Given the description of an element on the screen output the (x, y) to click on. 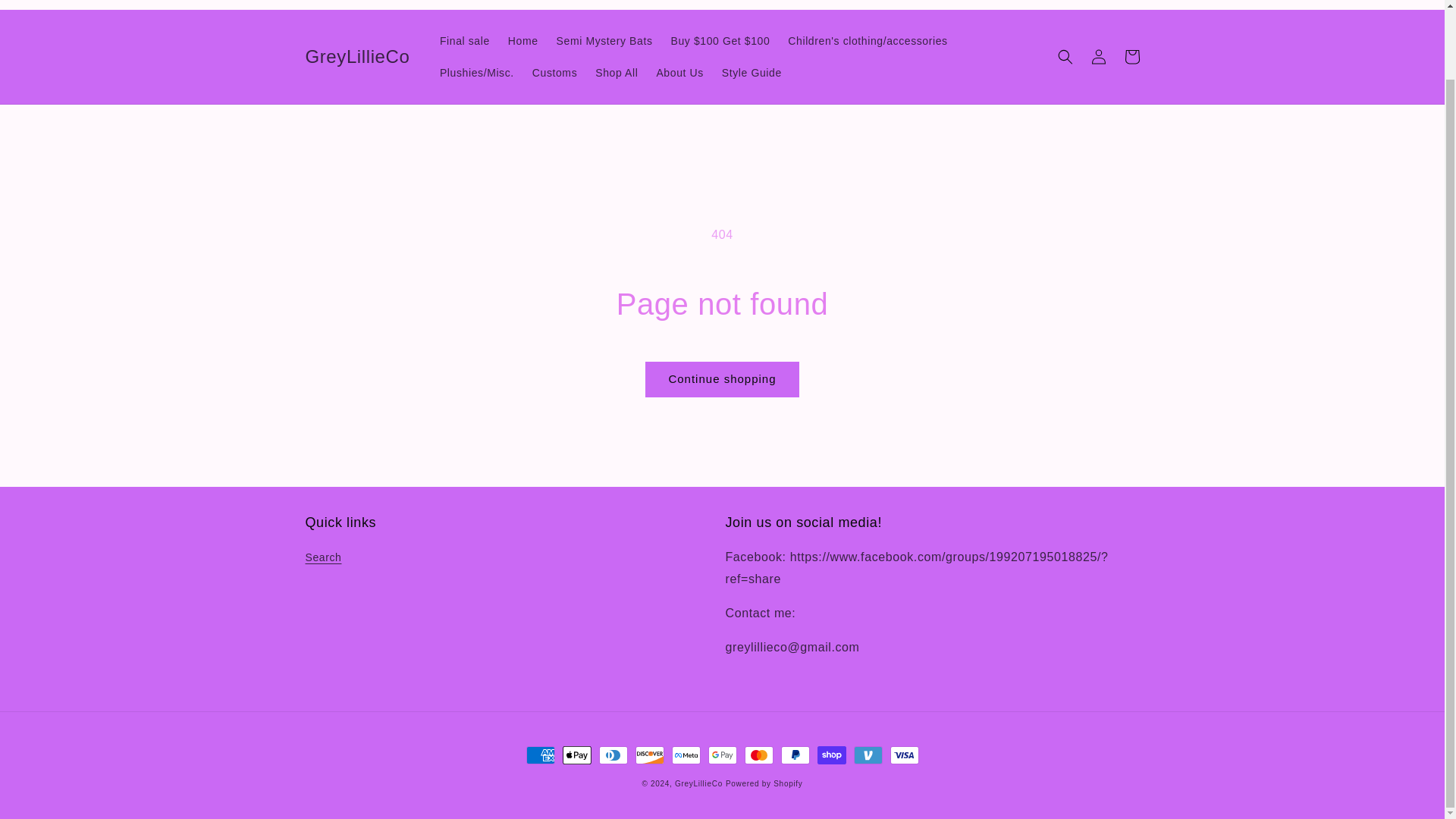
Style Guide (751, 72)
Final sale (464, 40)
Log in (1098, 56)
Powered by Shopify (764, 783)
Continue shopping (721, 379)
Semi Mystery Bats (604, 40)
Cart (1131, 56)
GreyLillieCo (356, 56)
Search (322, 558)
Shop All (616, 72)
Home (523, 40)
About Us (678, 72)
Customs (554, 72)
GreyLillieCo (698, 783)
